Given the description of an element on the screen output the (x, y) to click on. 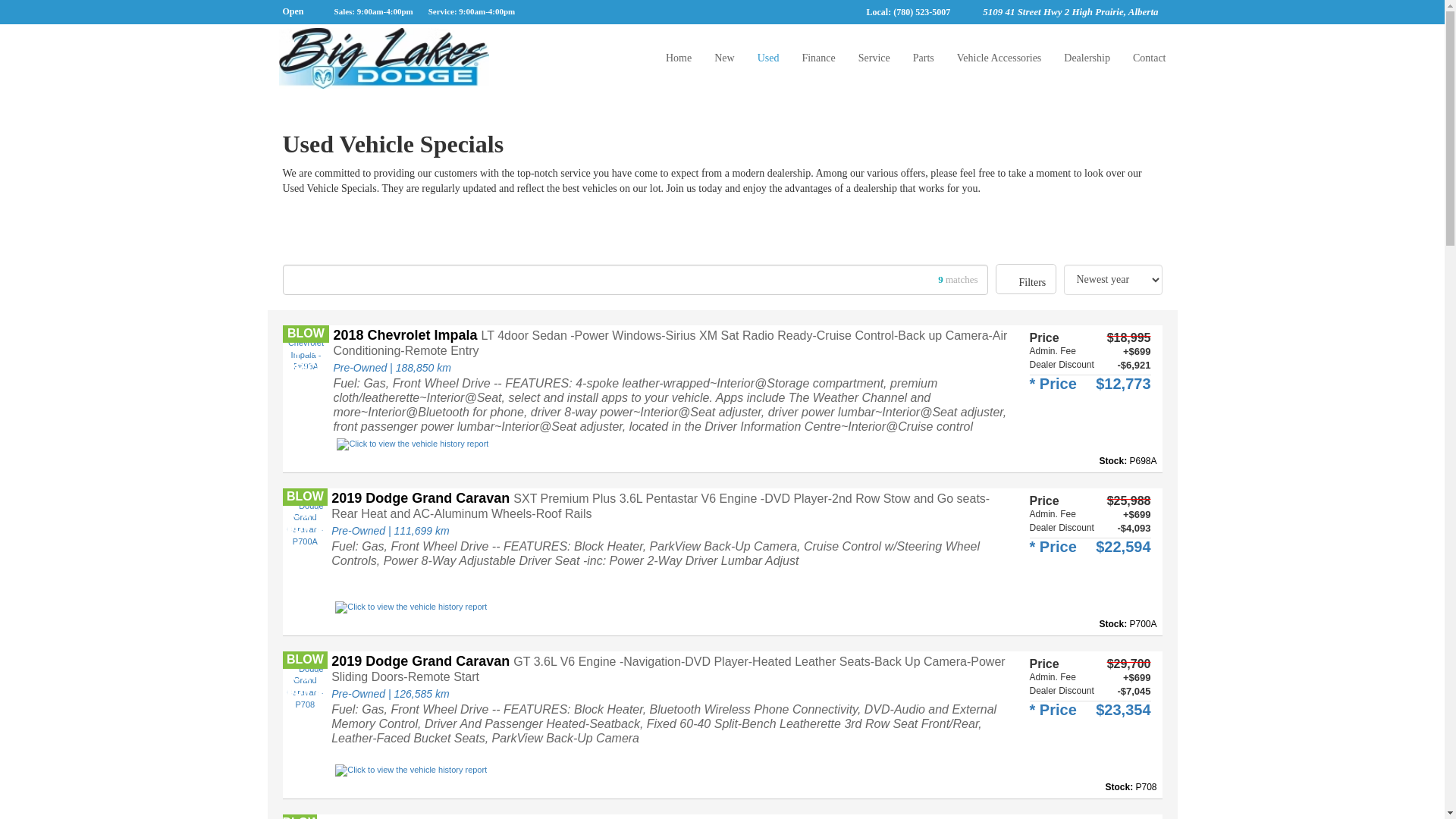
Parts (922, 57)
Used (767, 57)
Click to view the vehicle history report (411, 454)
Filters (1024, 278)
Click to view the vehicle history report (410, 780)
Click to view the vehicle history report (410, 617)
Service (874, 57)
Dealership (1086, 57)
Contact (1149, 57)
New (724, 57)
Home (678, 57)
Vehicle Accessories (998, 57)
Finance (817, 57)
